Given the description of an element on the screen output the (x, y) to click on. 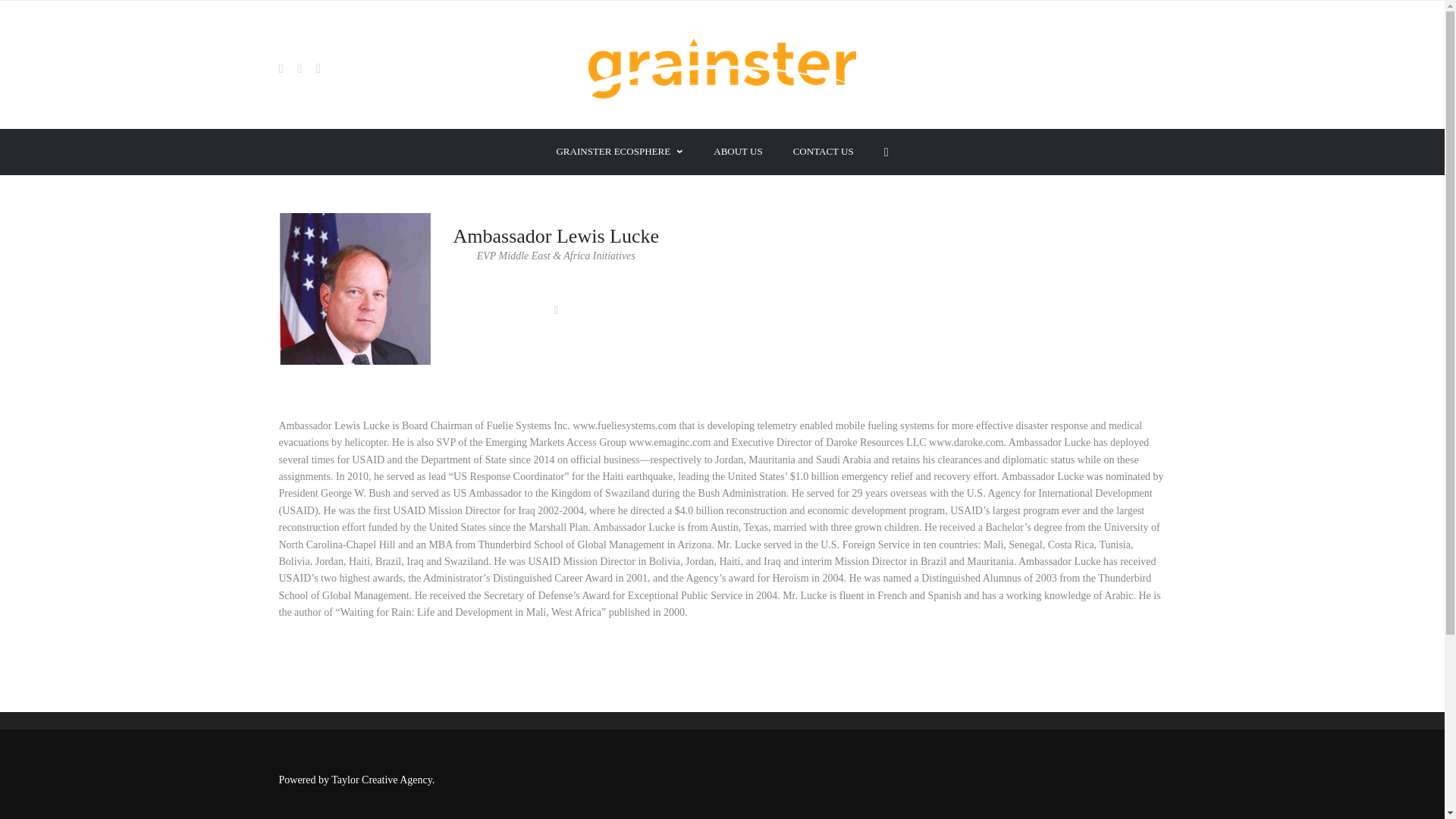
GRAINSTER ECOSPHERE (619, 151)
CONTACT US (823, 151)
Grainster Ecosphere (1004, 634)
Grainster - Grainster (722, 67)
Taylor Creative Agency (381, 779)
ABOUT US (737, 151)
Ambassador Lewis Lucke (354, 288)
Contact Us (984, 611)
About Us (981, 587)
